Given the description of an element on the screen output the (x, y) to click on. 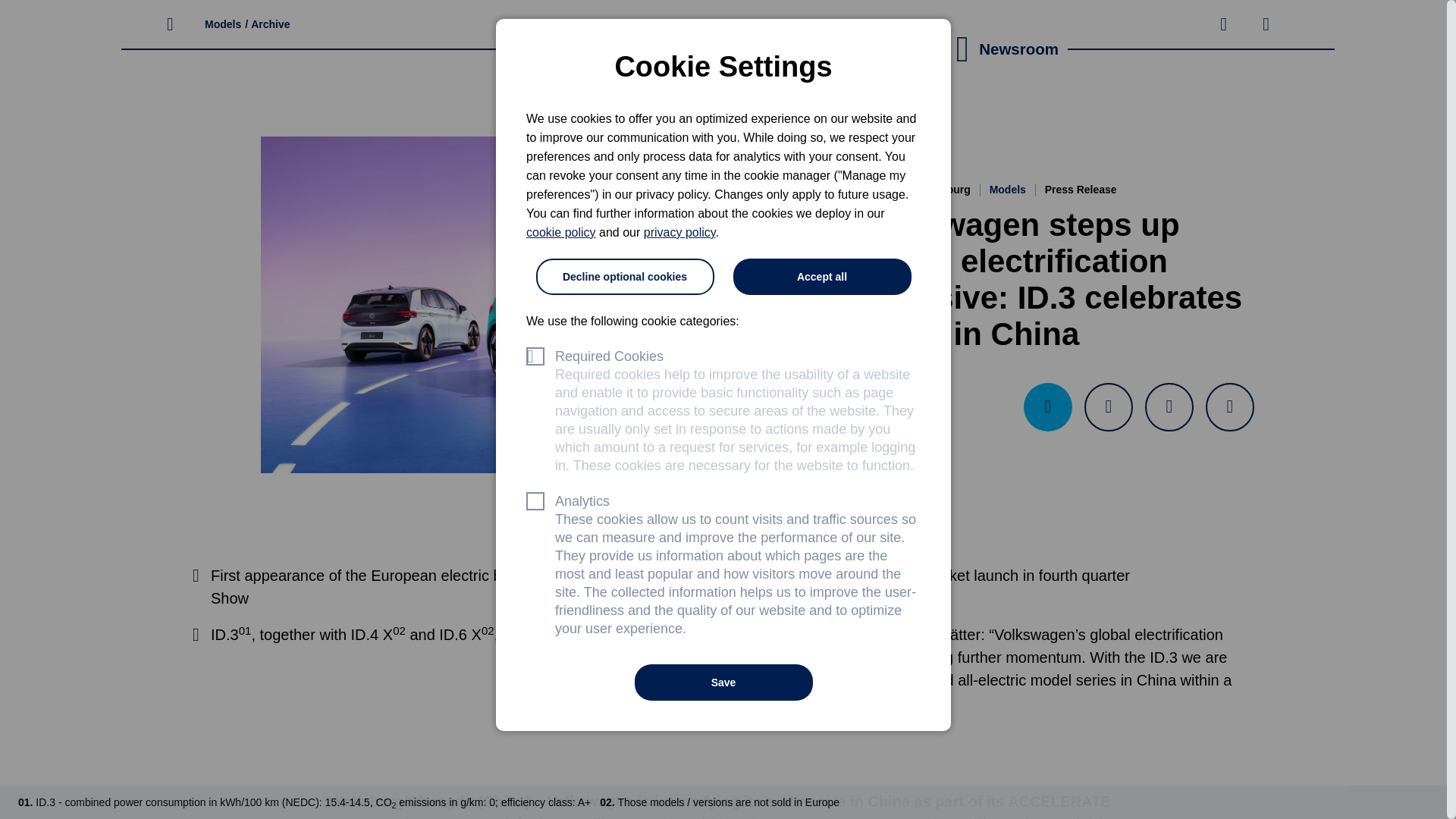
Share (1229, 407)
Media contact (1047, 407)
Add to cart (1168, 407)
